Given the description of an element on the screen output the (x, y) to click on. 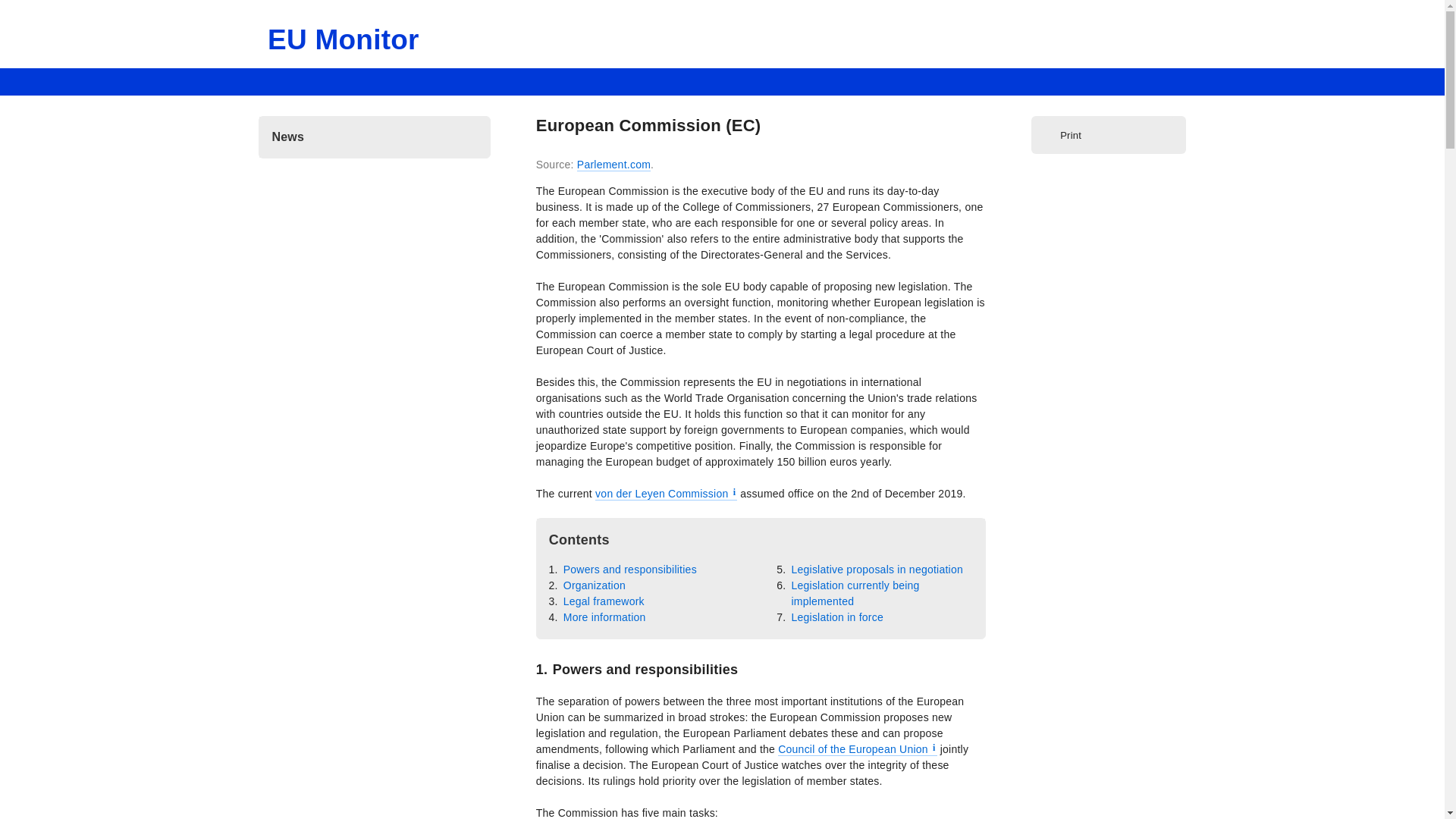
Legal framework (602, 601)
To Home (343, 39)
Organization (593, 585)
Legislation currently being implemented (880, 593)
Legislative proposals in negotiation (875, 569)
Council of the European Union i (856, 748)
Powers and responsibilities (628, 569)
Parlement.com (613, 164)
Legislation in force (836, 617)
EU Monitor (343, 39)
